Given the description of an element on the screen output the (x, y) to click on. 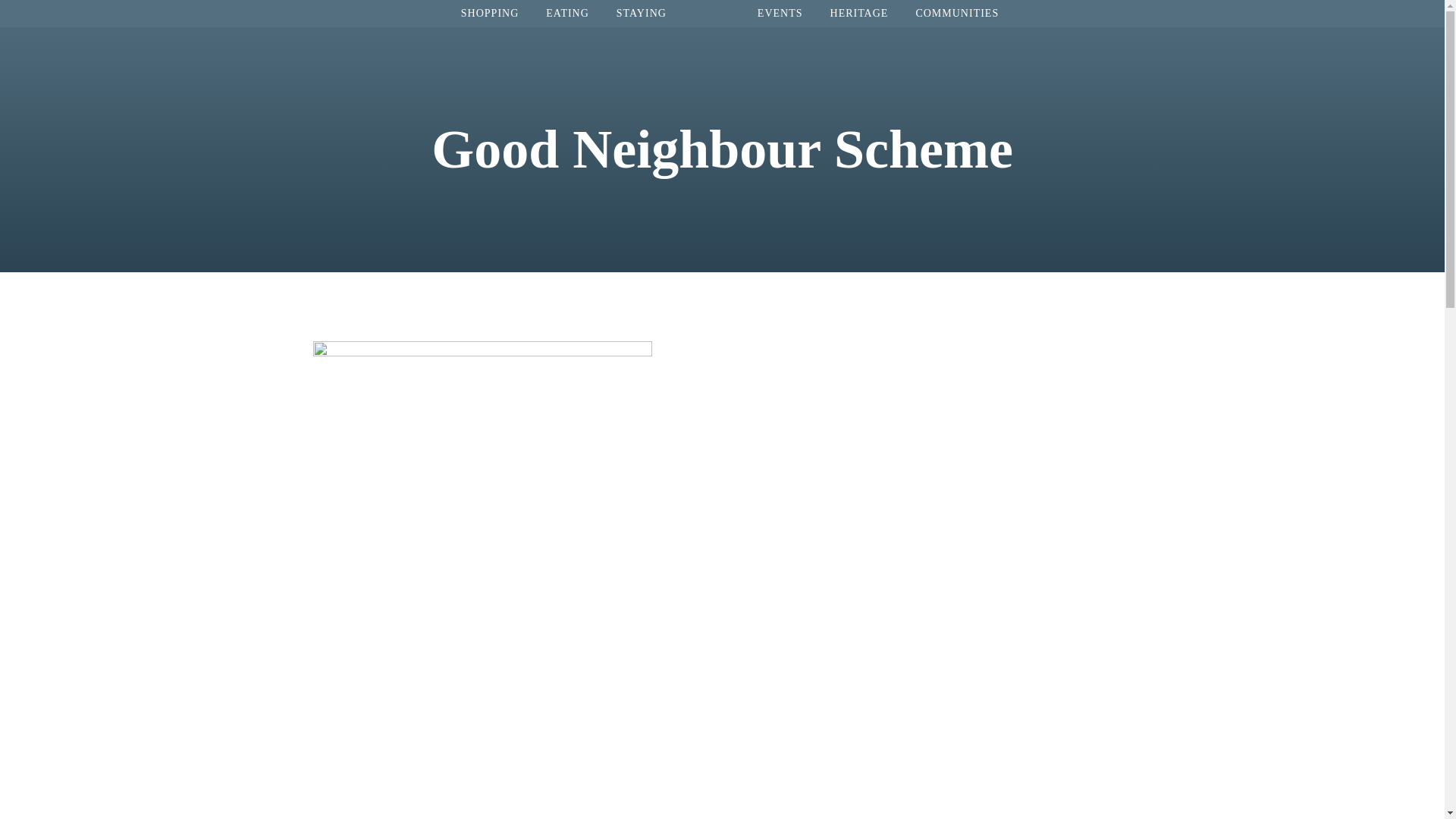
SHOPPING (489, 12)
STAYING (640, 12)
EVENTS (780, 12)
COMMUNITIES (956, 12)
EATING (567, 12)
HERITAGE (859, 12)
